Given the description of an element on the screen output the (x, y) to click on. 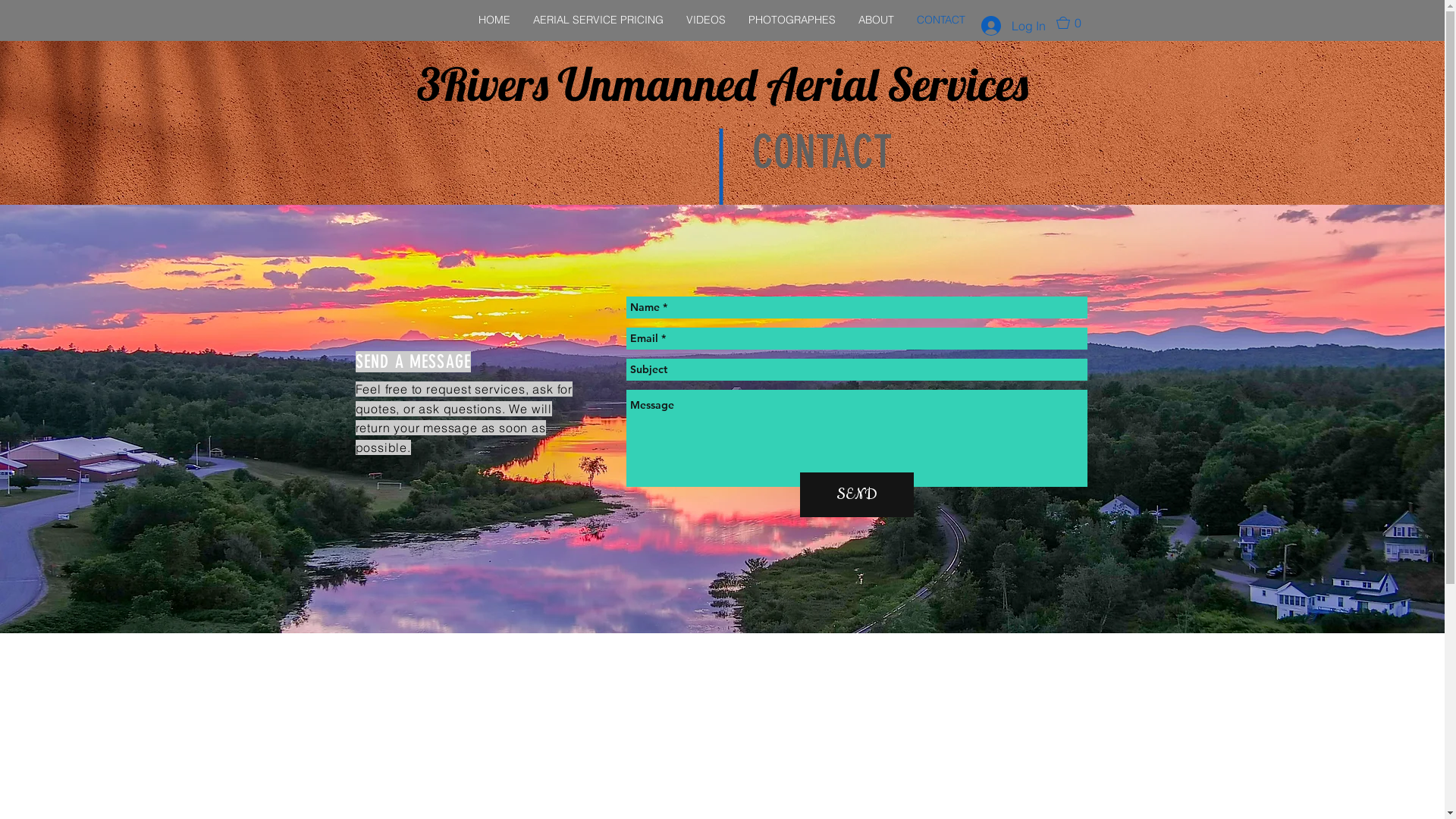
VIDEOS Element type: text (705, 20)
HOME Element type: text (494, 20)
PHOTOGRAPHES Element type: text (792, 20)
AERIAL SERVICE PRICING Element type: text (597, 20)
Log In Element type: text (1013, 25)
CONTACT Element type: text (940, 20)
SEND Element type: text (856, 494)
3Rivers Unmanned Aerial Services Element type: text (722, 83)
ABOUT Element type: text (876, 20)
